Given the description of an element on the screen output the (x, y) to click on. 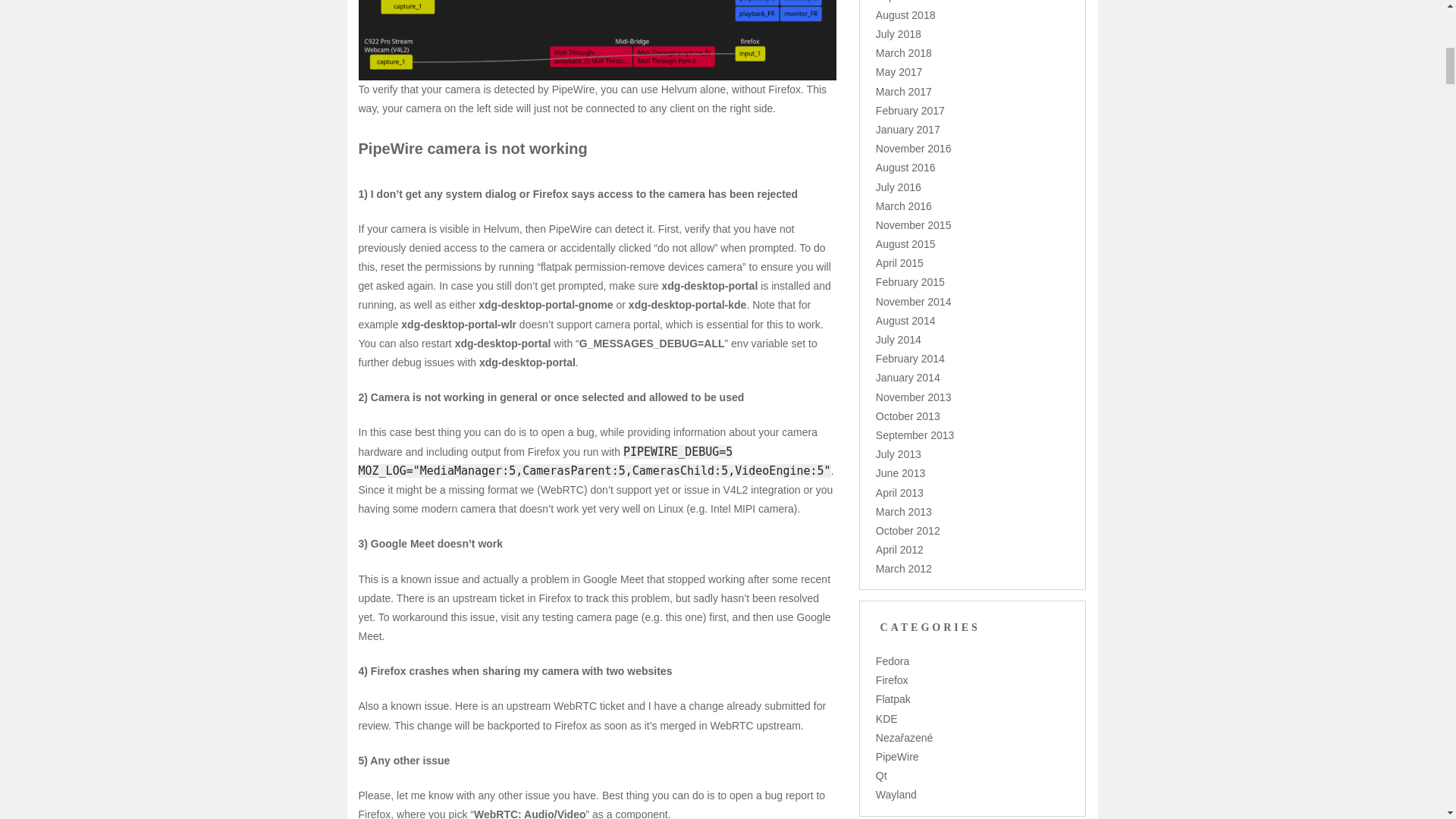
upstream WebRTC ticket (566, 705)
this one (684, 616)
upstream ticket in Firefox (511, 598)
